Given the description of an element on the screen output the (x, y) to click on. 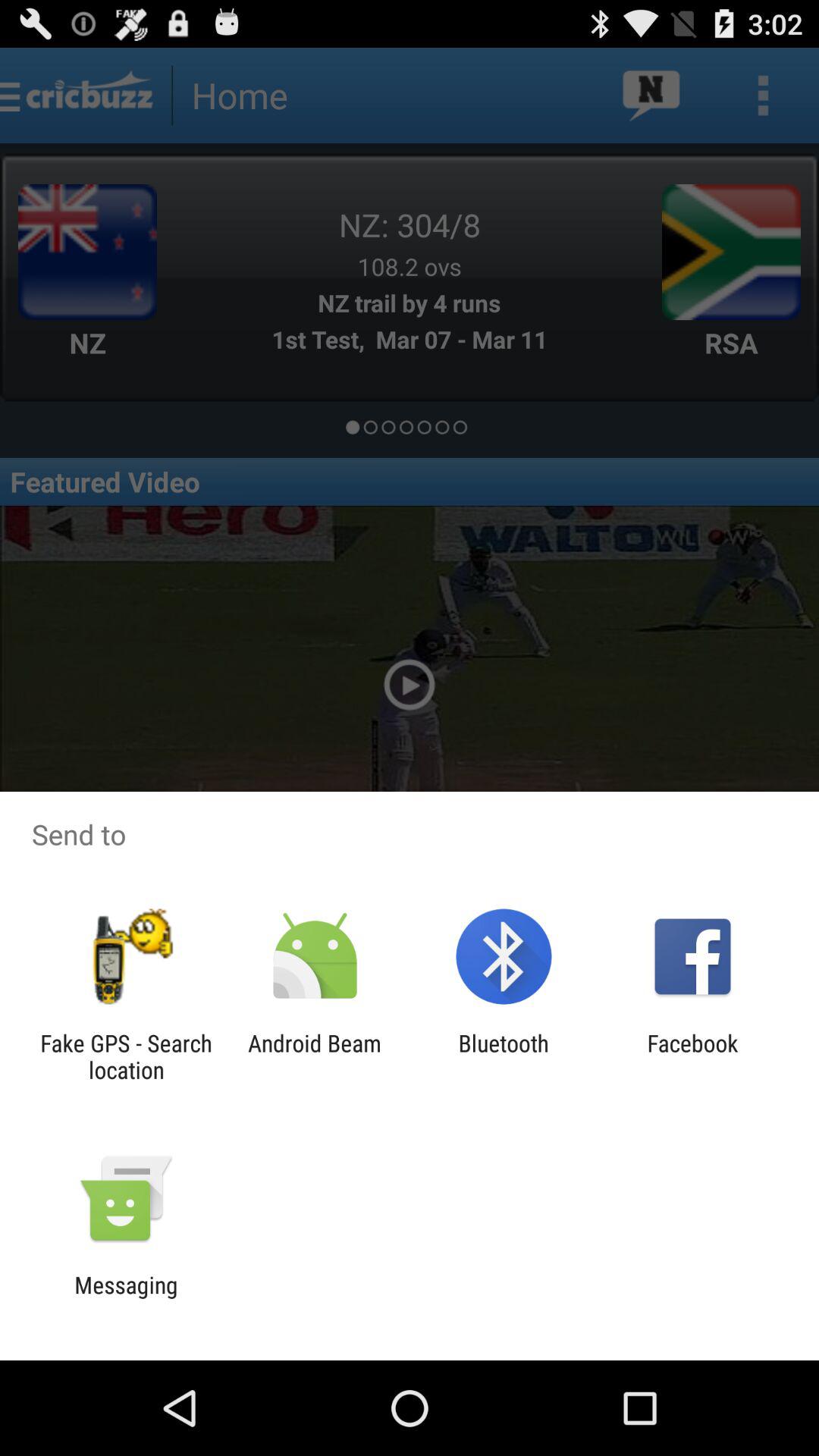
scroll to android beam item (314, 1056)
